Given the description of an element on the screen output the (x, y) to click on. 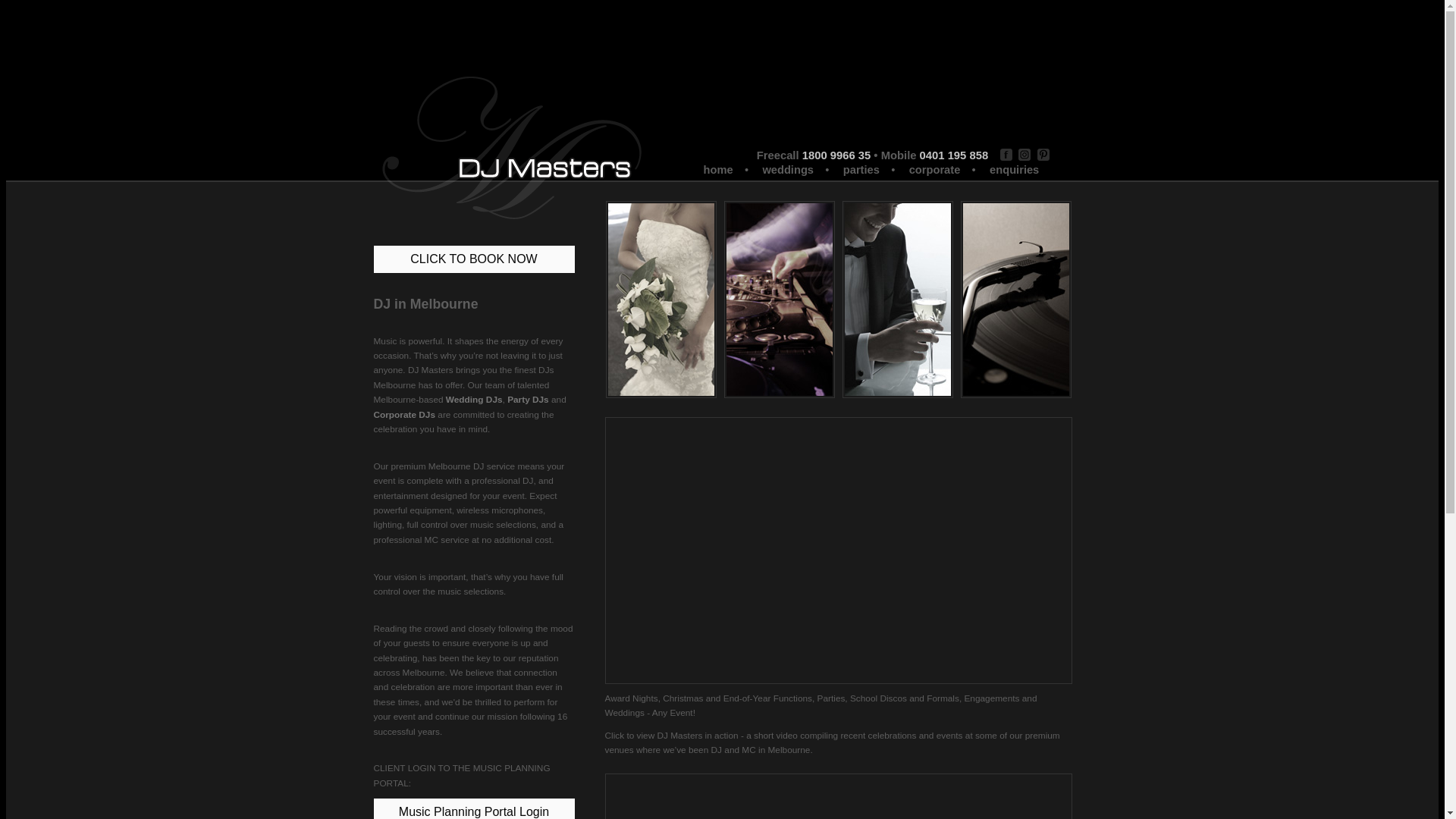
parties Element type: text (859, 167)
1800 9966 35 Element type: text (836, 155)
0401 195 858 Element type: text (953, 155)
home Element type: text (716, 167)
weddings Element type: text (786, 167)
enquiries Element type: text (1013, 167)
corporate Element type: text (933, 167)
CLICK TO BOOK NOW Element type: text (473, 259)
